Given the description of an element on the screen output the (x, y) to click on. 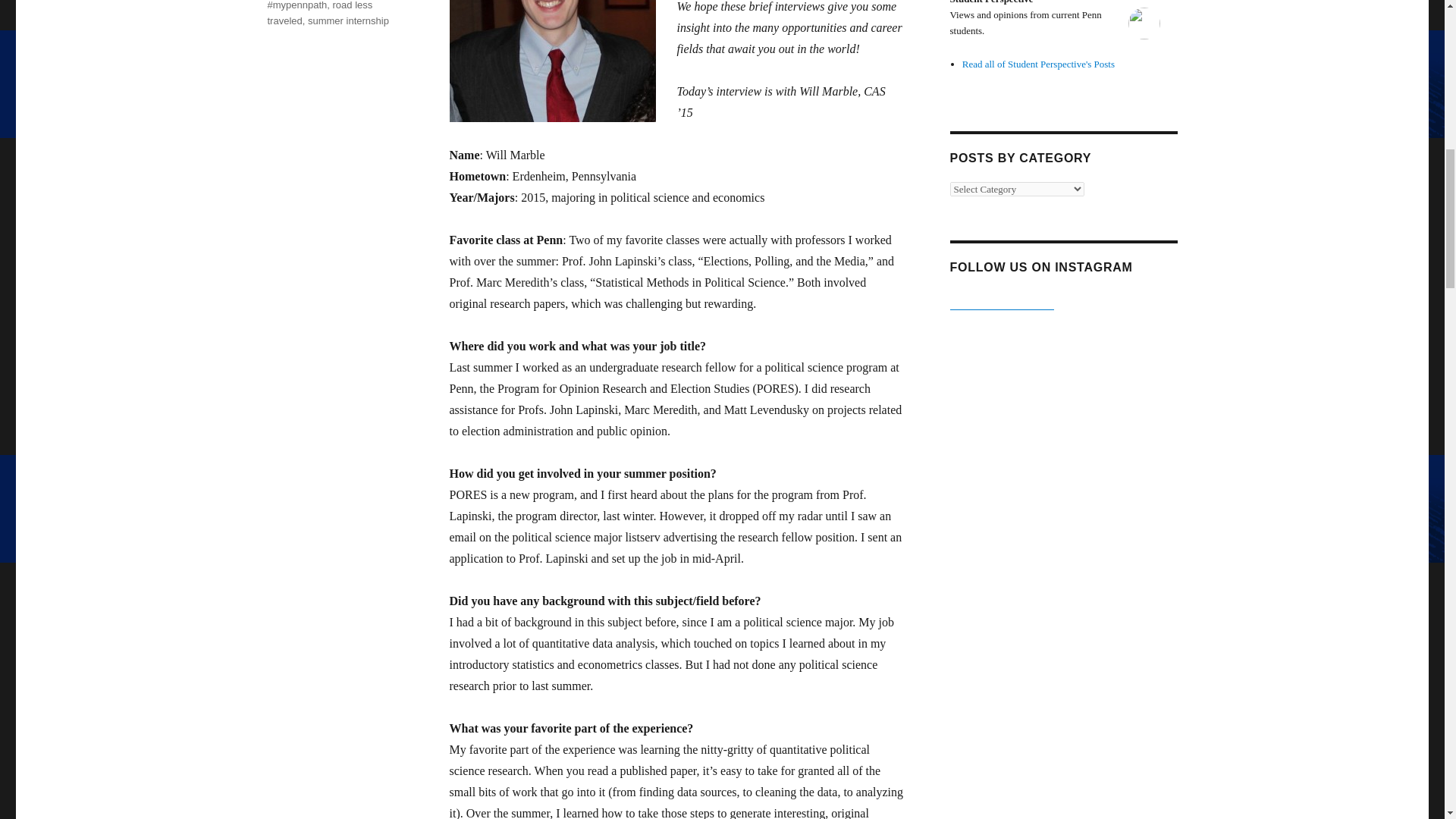
summer internship (347, 20)
road less traveled (319, 13)
Read all of Student Perspective's Posts (1038, 63)
